Given the description of an element on the screen output the (x, y) to click on. 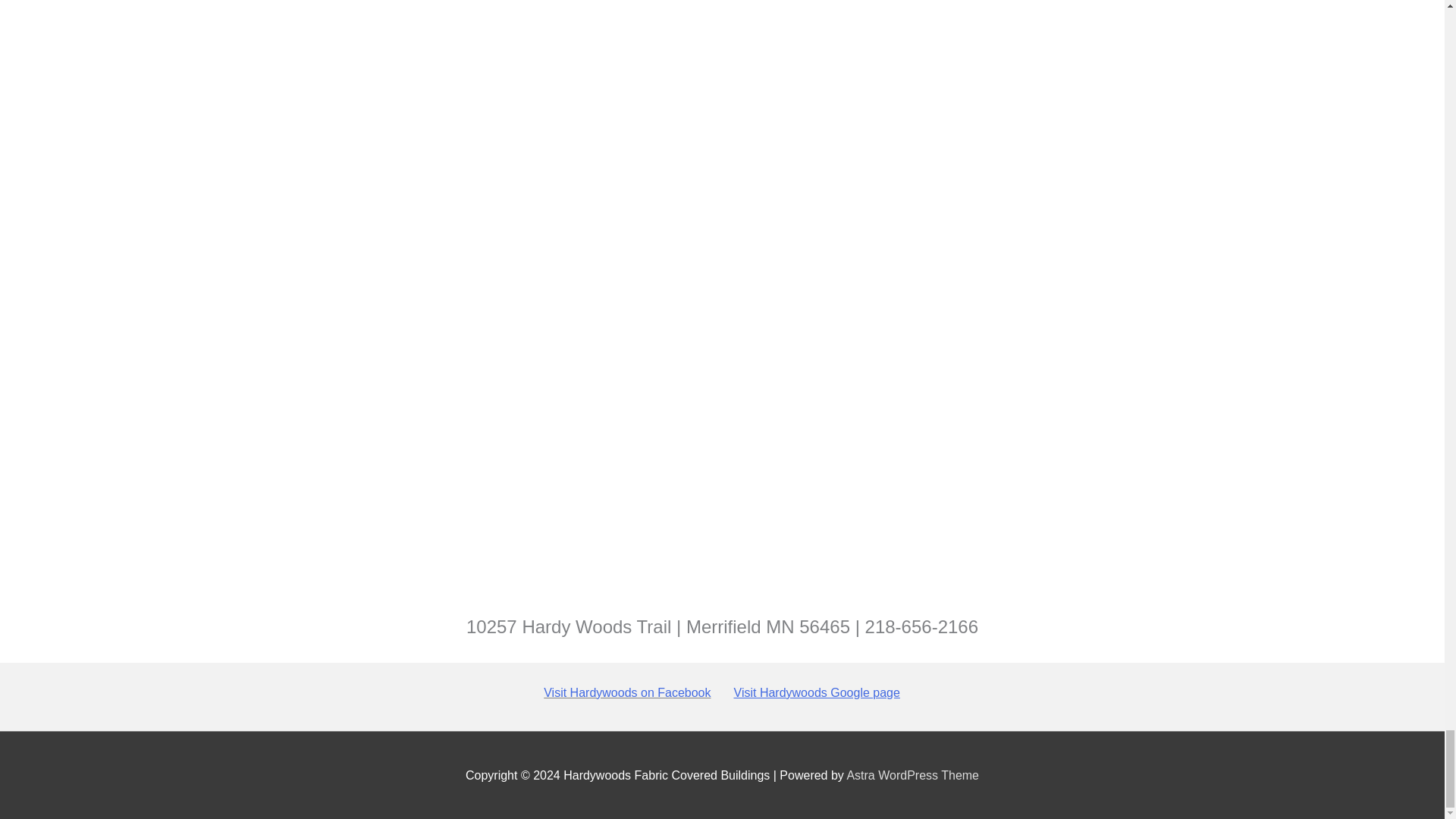
Visit Hardywoods Google page (816, 692)
Visit Hardywoods on Facebook (626, 692)
Astra WordPress Theme (911, 775)
